Given the description of an element on the screen output the (x, y) to click on. 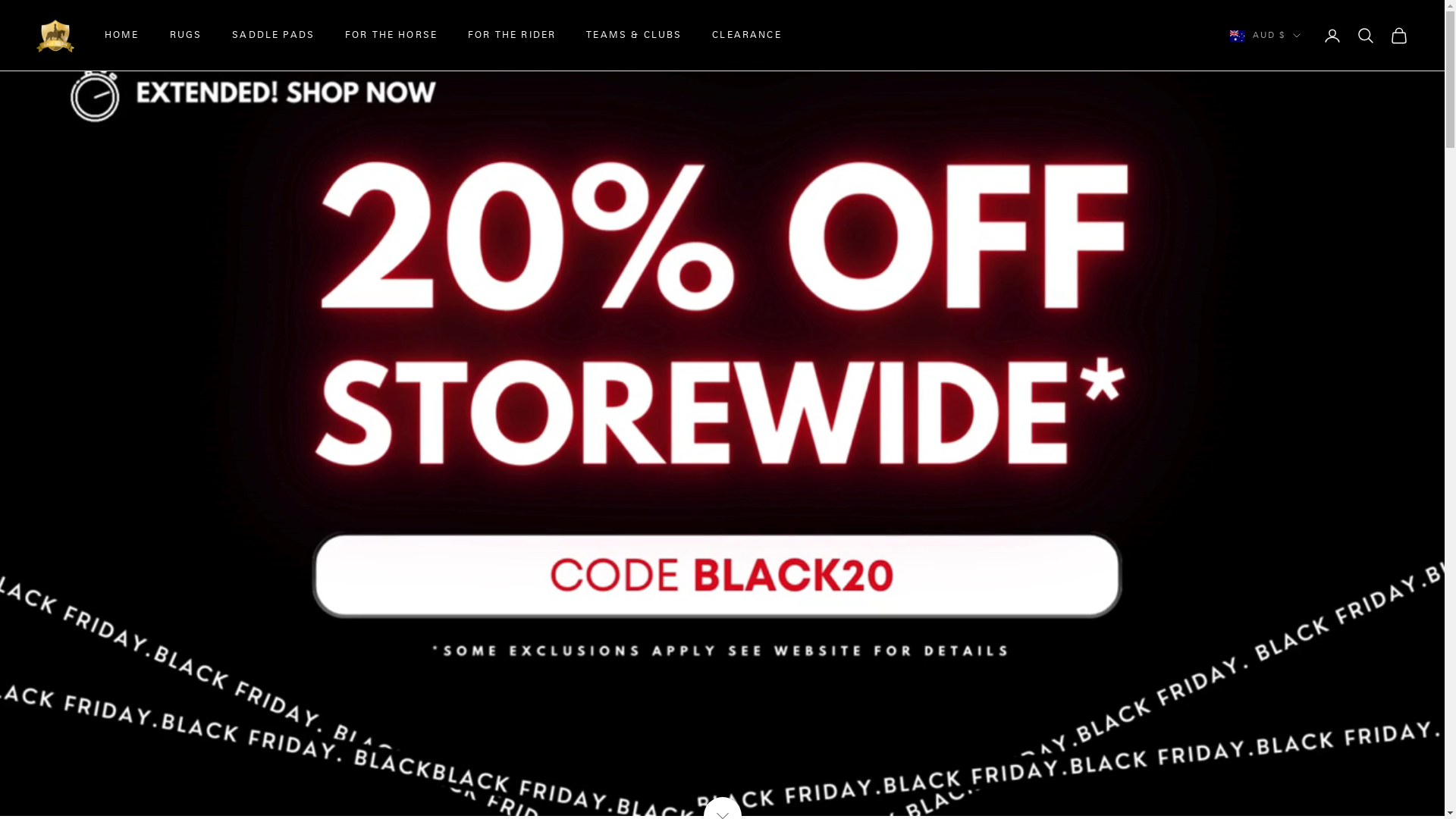
Gala Equine Element type: text (55, 35)
Open cart Element type: text (1399, 35)
AUD $ Element type: text (1265, 35)
HOME Element type: text (121, 35)
Open account page Element type: text (1332, 35)
Open search Element type: text (1365, 35)
